Given the description of an element on the screen output the (x, y) to click on. 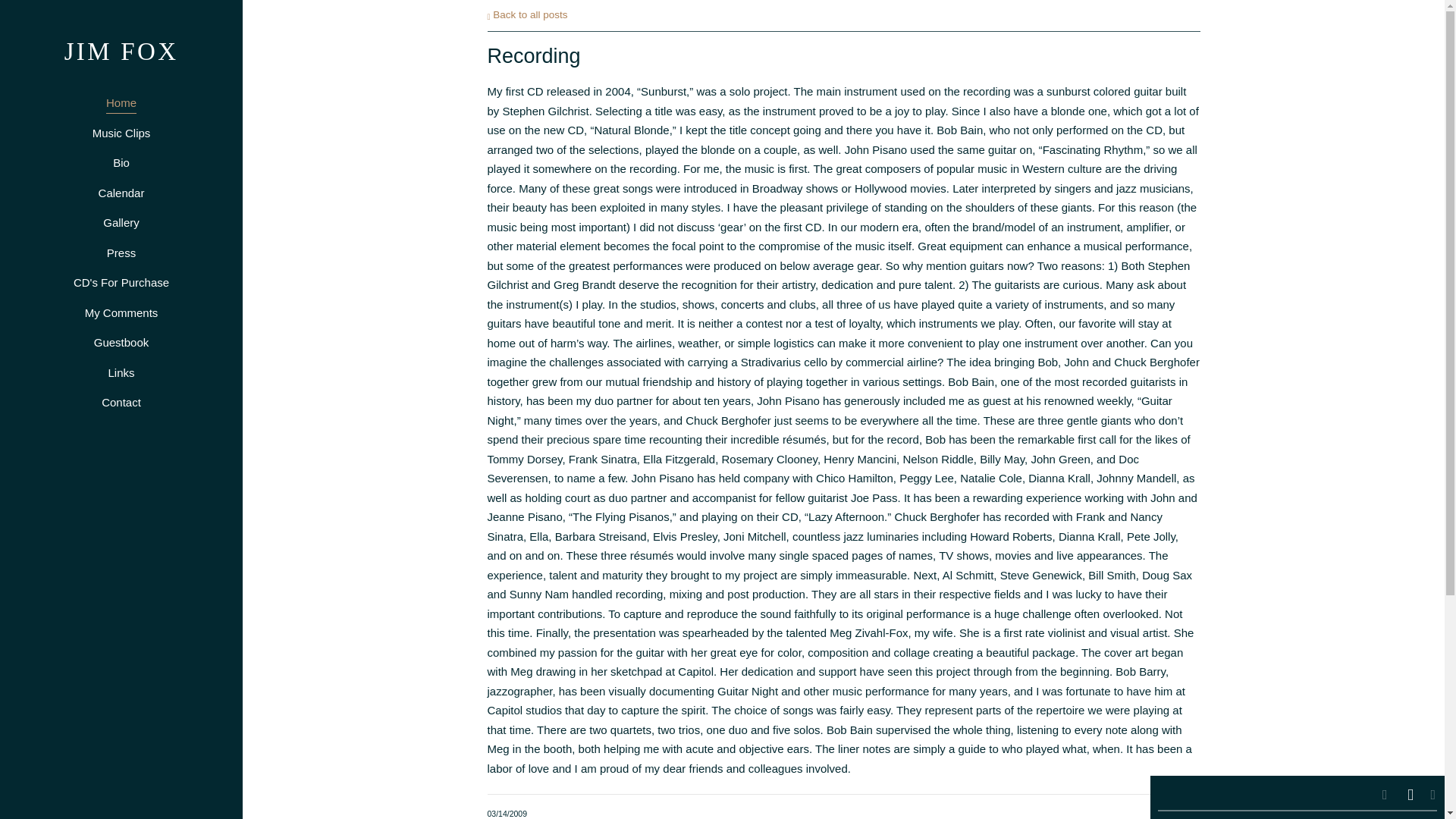
CD's For Purchase (121, 282)
JIM FOX (121, 52)
Music Clips (122, 133)
Contact (121, 402)
Press (120, 252)
Gallery (121, 222)
Back to all posts (526, 14)
My Comments (121, 312)
Calendar (121, 193)
Guestbook (121, 342)
March 14, 2009 17:00 (506, 813)
Home (121, 103)
Links (120, 373)
